Given the description of an element on the screen output the (x, y) to click on. 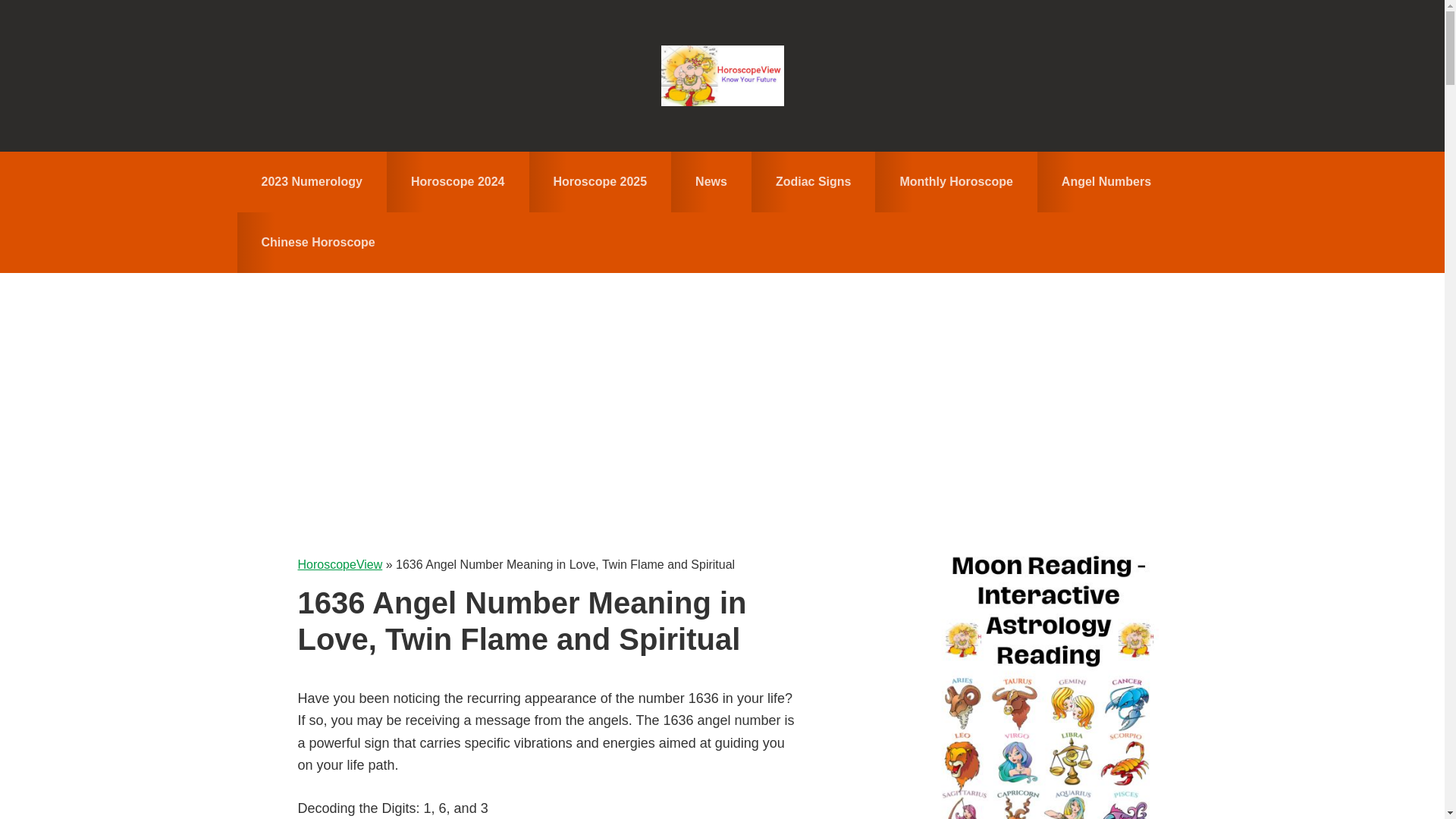
Horoscope 2025 (600, 181)
HoroscopeView (722, 75)
Chinese Horoscope (316, 242)
HoroscopeView (339, 563)
News (711, 181)
Zodiac Signs (813, 181)
Monthly Horoscope (955, 181)
Horoscope 2024 (458, 181)
2023 Numerology (310, 181)
Angel Numbers (1105, 181)
